Given the description of an element on the screen output the (x, y) to click on. 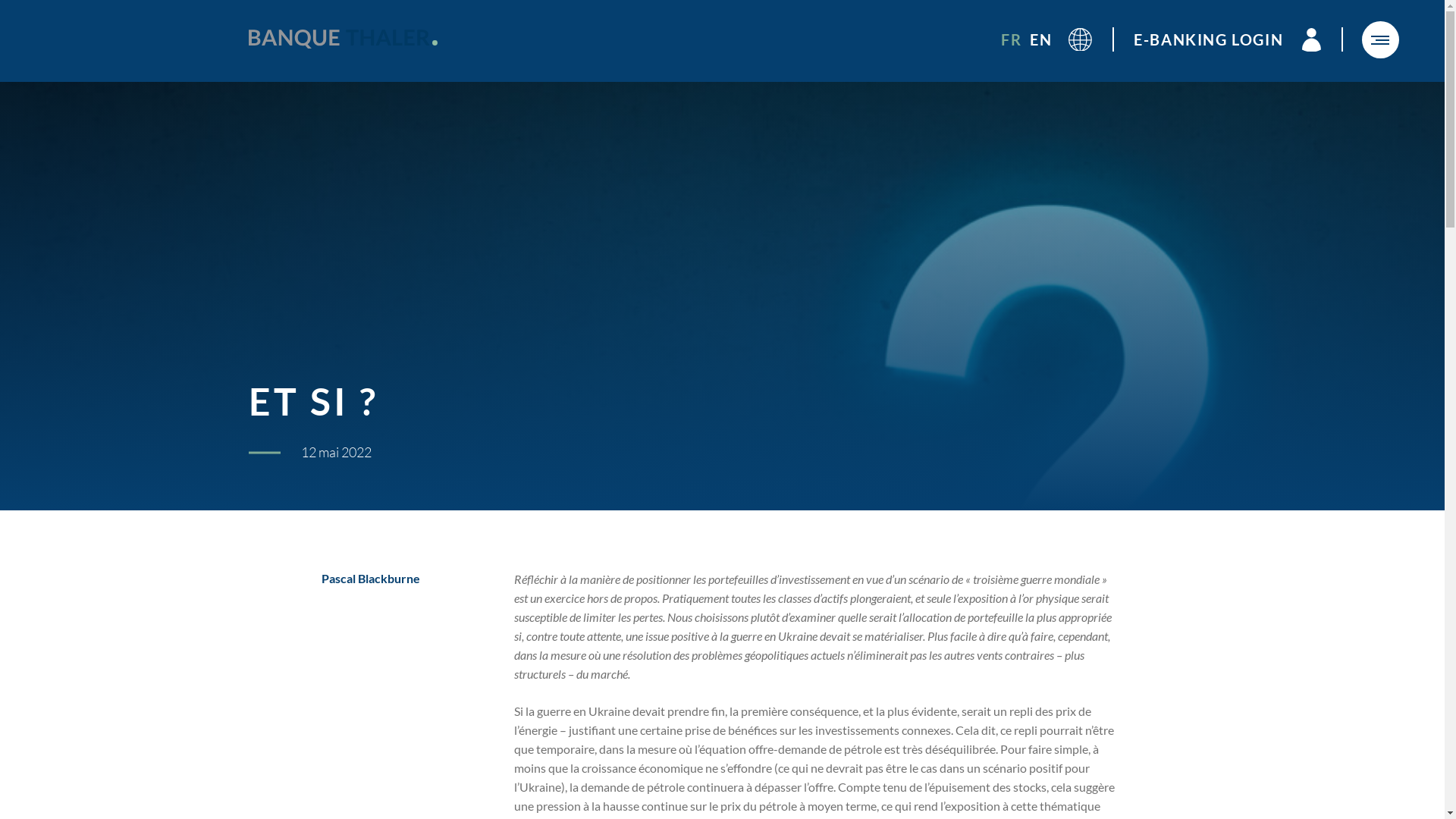
E-BANKING LOGIN Element type: text (1238, 39)
FR Element type: text (1011, 39)
EN Element type: text (1040, 39)
